Given the description of an element on the screen output the (x, y) to click on. 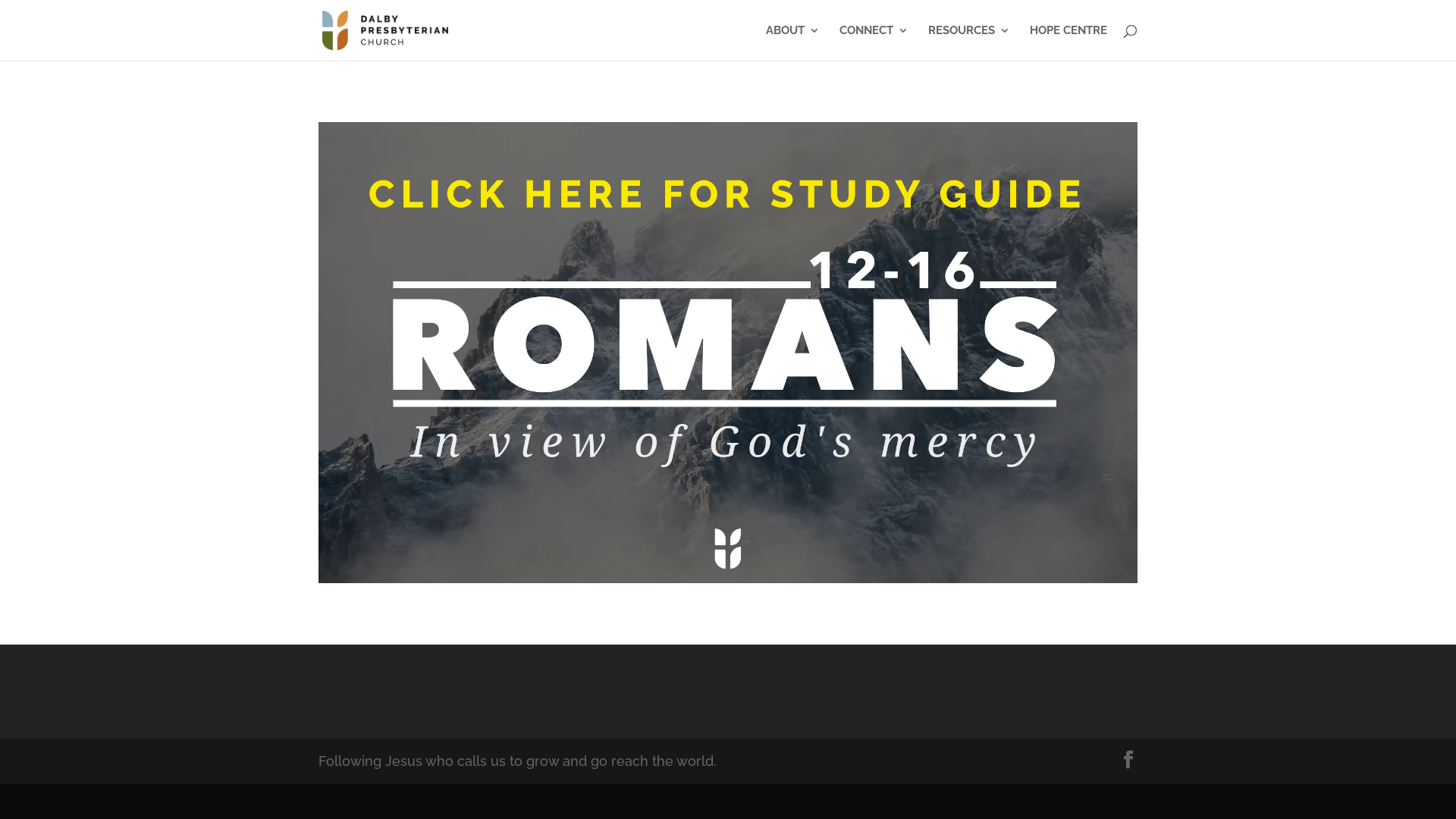
Romans 12-16 title WEB Element type: hover (727, 352)
CONNECT Element type: text (873, 42)
ABOUT Element type: text (792, 42)
HOPE CENTRE Element type: text (1068, 42)
RESOURCES Element type: text (969, 42)
